Given the description of an element on the screen output the (x, y) to click on. 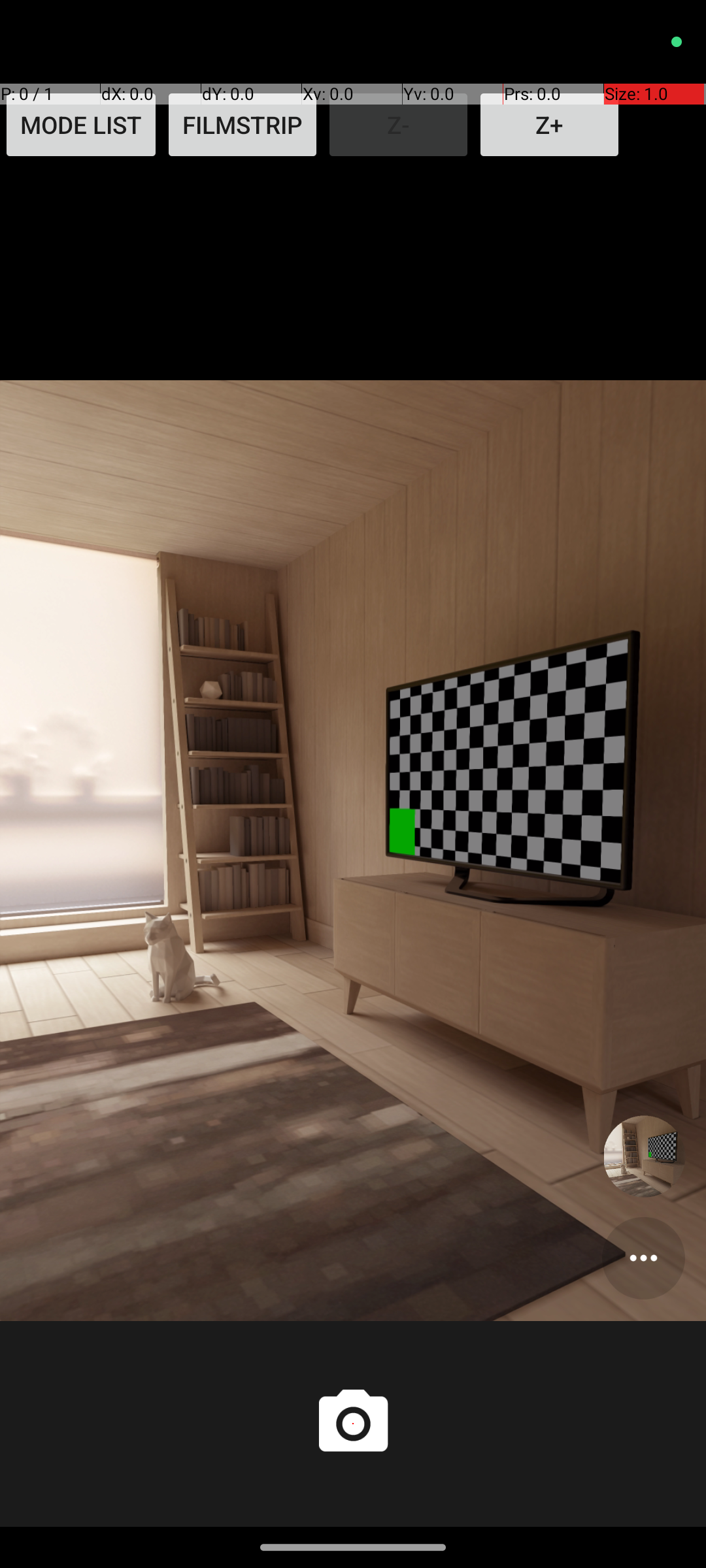
Options Element type: android.widget.LinearLayout (643, 1258)
